Given the description of an element on the screen output the (x, y) to click on. 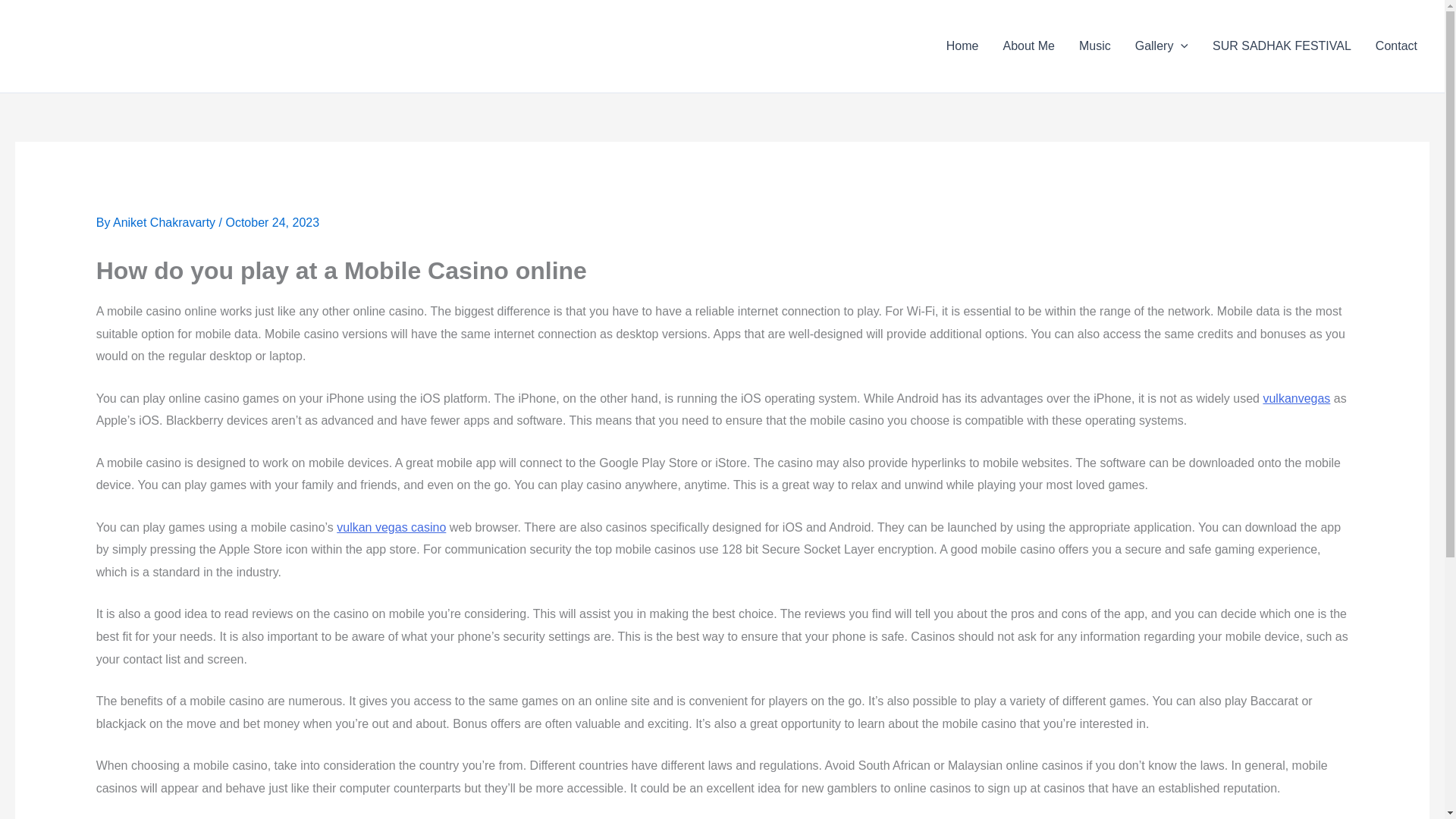
SUR SADHAK FESTIVAL (1280, 45)
Contact (1395, 45)
vulkan vegas casino (390, 526)
View all posts by Aniket Chakravarty (166, 222)
Aniket Chakravarty (166, 222)
Music (1094, 45)
Gallery (1160, 45)
vulkanvegas (1296, 398)
About Me (1027, 45)
Home (962, 45)
